Given the description of an element on the screen output the (x, y) to click on. 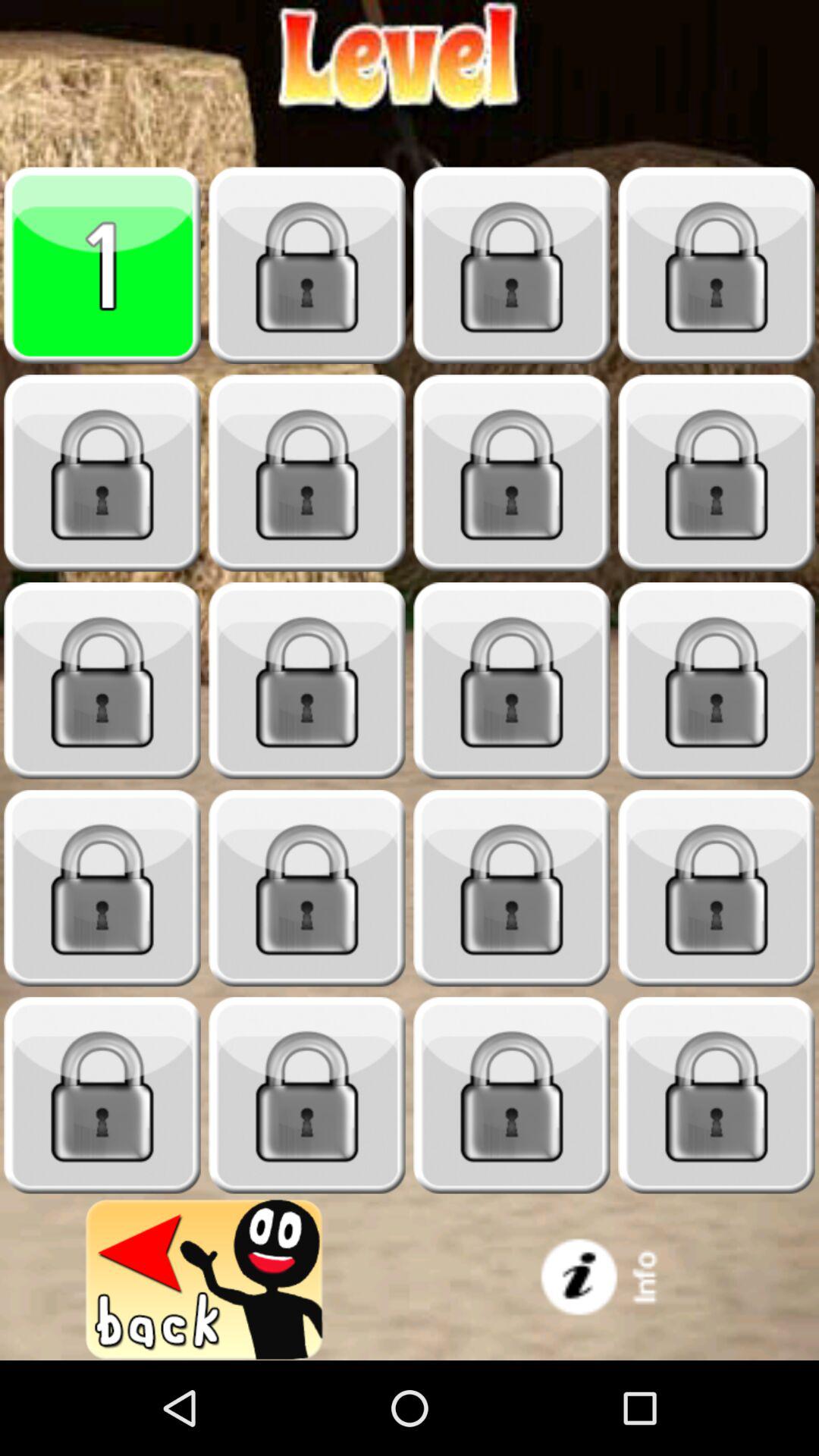
lock the game (102, 887)
